Given the description of an element on the screen output the (x, y) to click on. 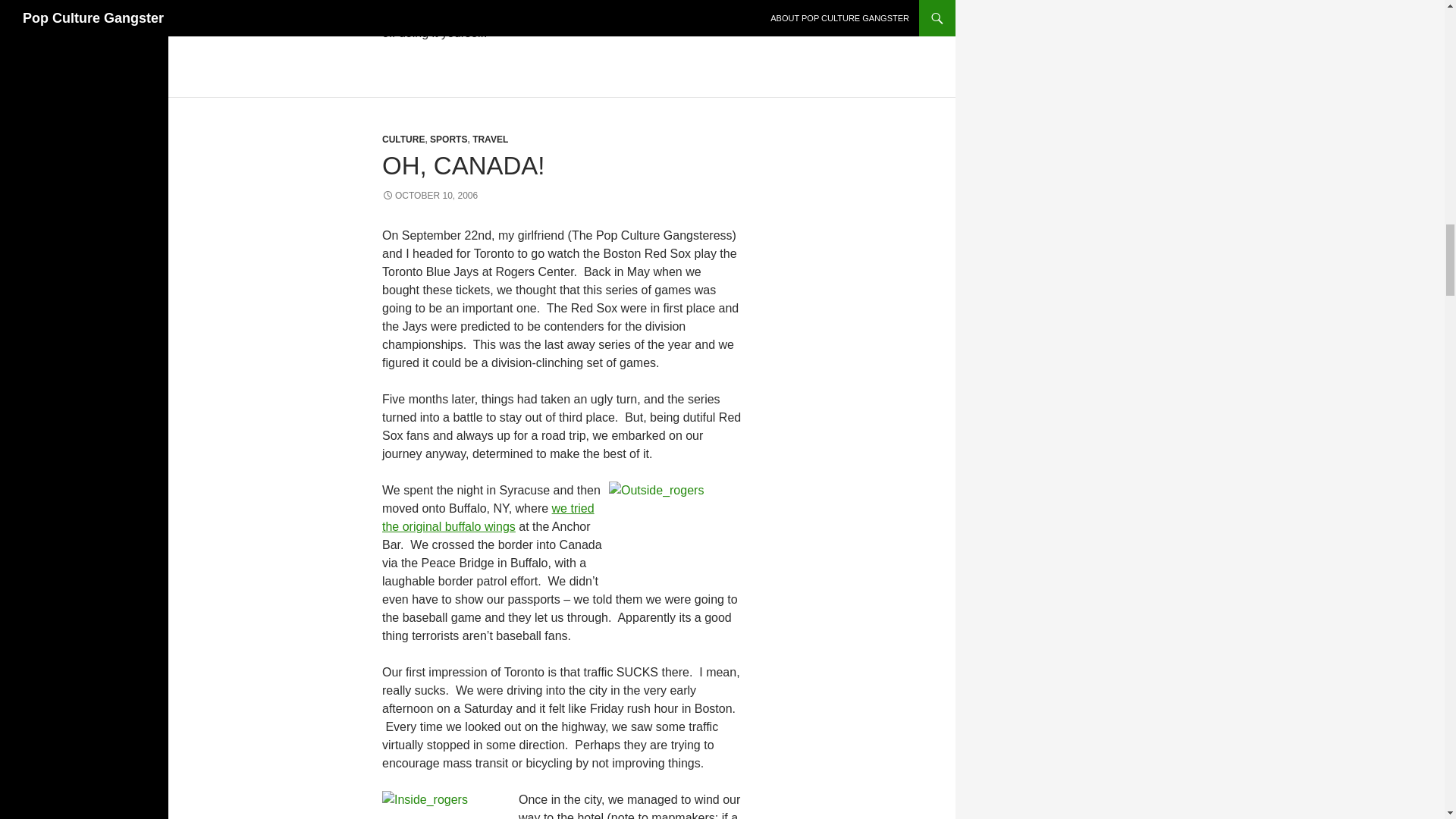
TRAVEL (489, 139)
SPORTS (448, 139)
CULTURE (403, 139)
OCTOBER 10, 2006 (429, 195)
OH, CANADA! (462, 165)
